Given the description of an element on the screen output the (x, y) to click on. 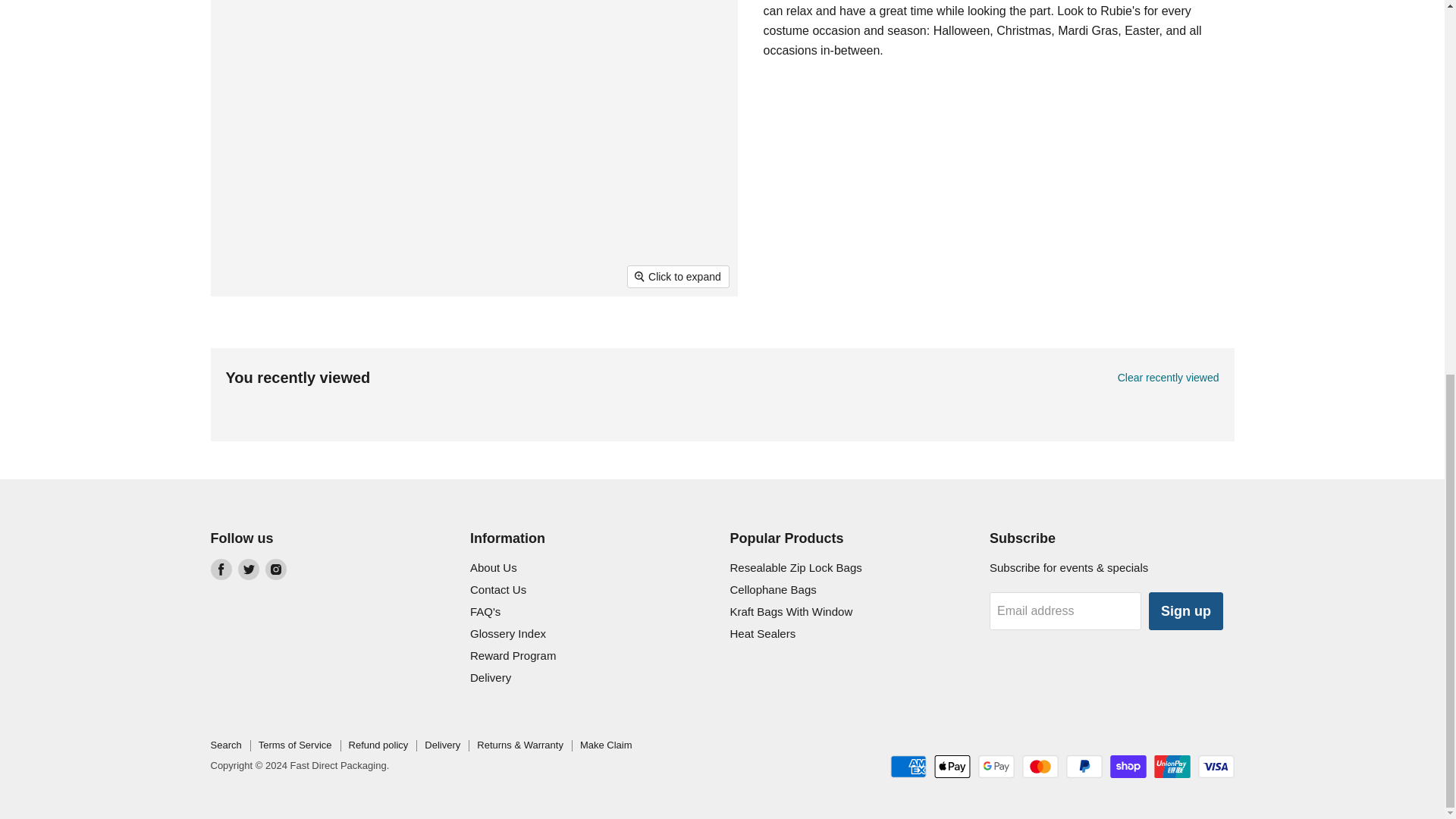
Instagram (275, 568)
Twitter (248, 568)
Facebook (221, 568)
